Given the description of an element on the screen output the (x, y) to click on. 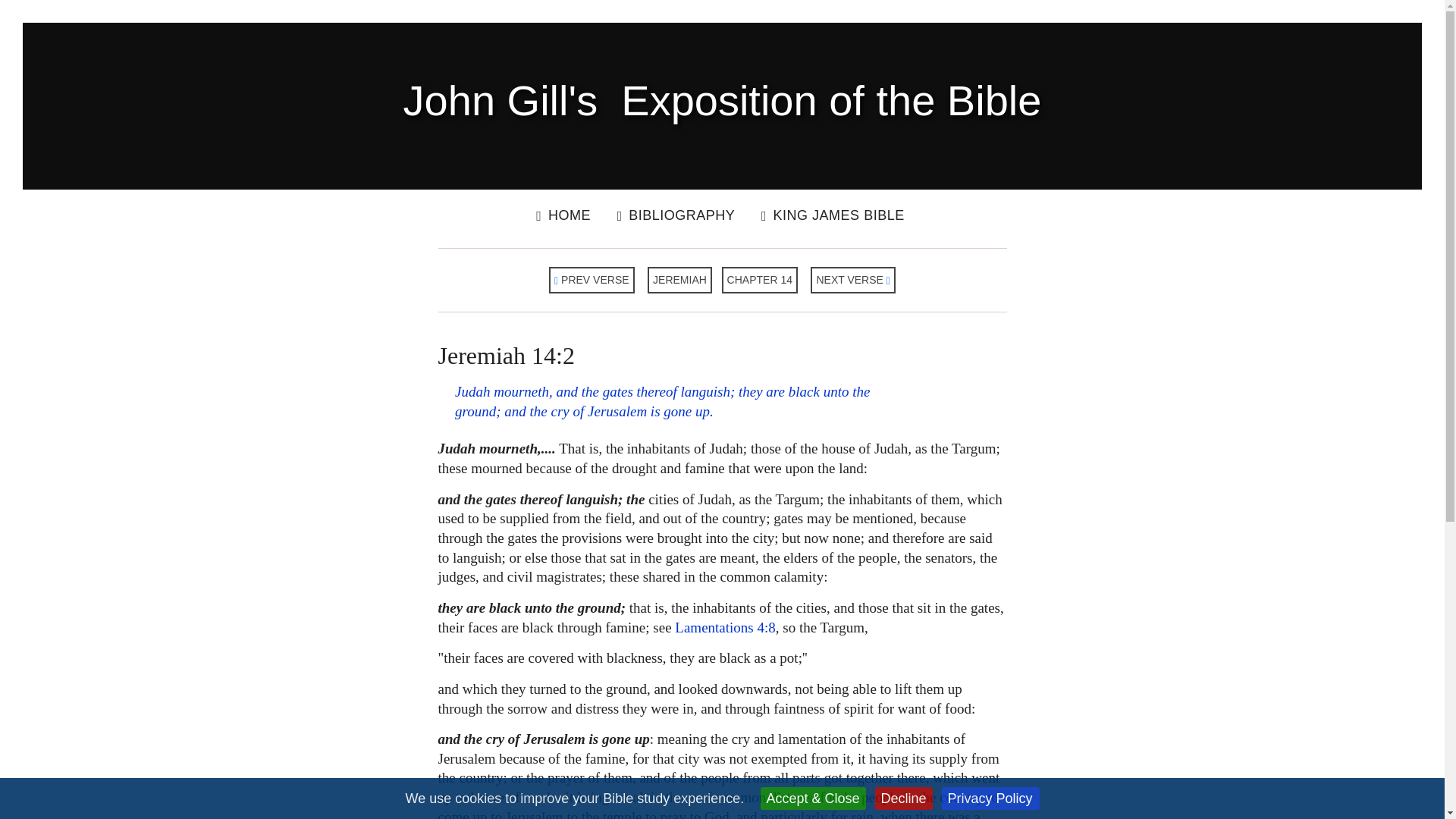
 BIBLIOGRAPHY (676, 215)
CHAPTER 14 (759, 279)
PREV VERSE (591, 279)
Decline (904, 798)
JEREMIAH (679, 279)
 HOME (563, 215)
Privacy Policy (990, 798)
NEXT VERSE (852, 279)
Lamentations 4:8 (724, 627)
 KING JAMES BIBLE (833, 215)
